Given the description of an element on the screen output the (x, y) to click on. 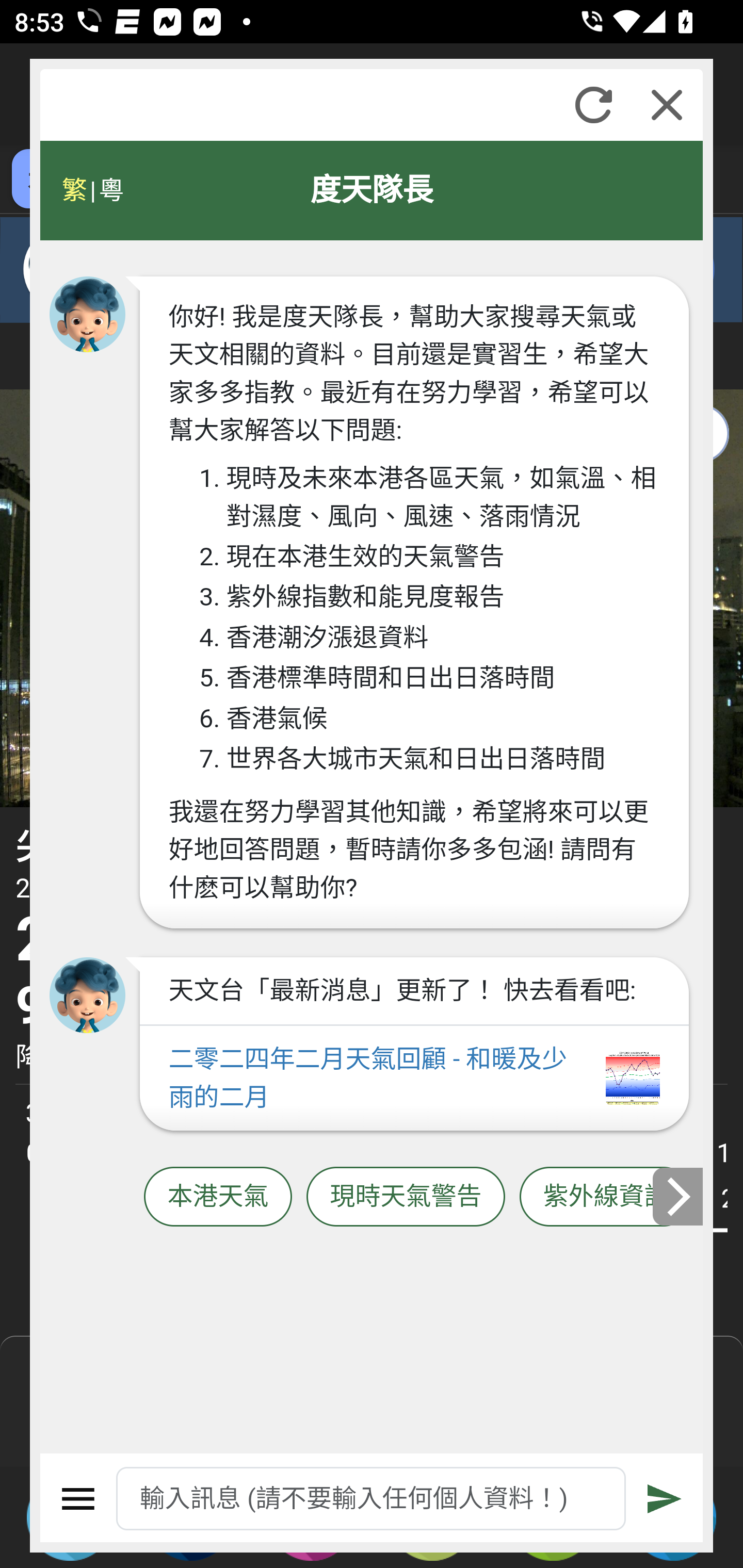
重新整理 (593, 104)
關閉 (666, 104)
繁 (73, 190)
粵 (110, 190)
二零二四年二月天氣回顧 - 和暖及少雨的二月 (413, 1078)
本港天氣 (217, 1196)
現時天氣警告 (405, 1196)
紫外線資訊 (605, 1196)
下一張 (678, 1196)
選單 (78, 1498)
遞交 (665, 1498)
